Given the description of an element on the screen output the (x, y) to click on. 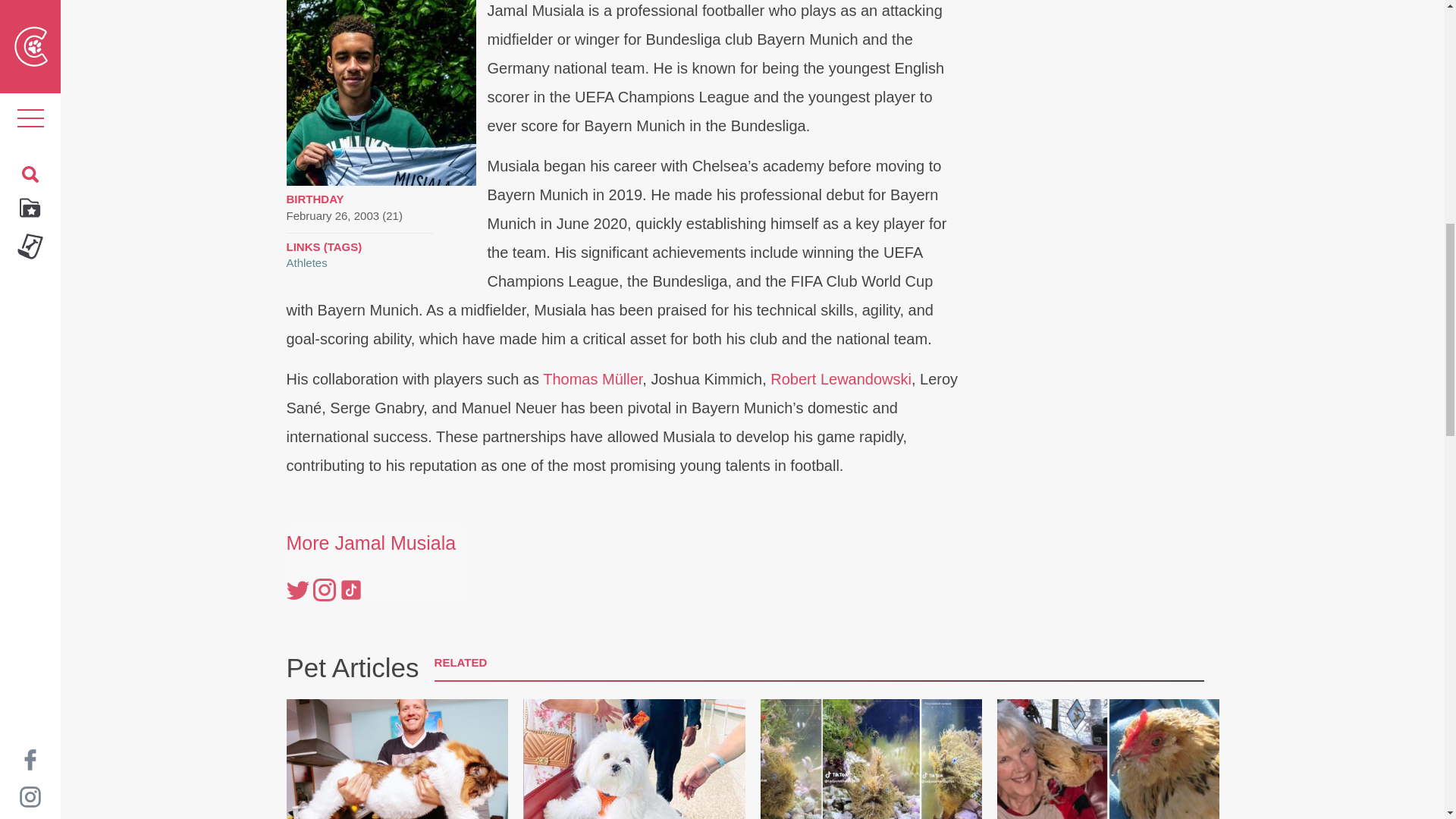
Jamal Musiala's Instagram (323, 589)
Jamal Musiala's Tiktok (350, 589)
Jamal Musiala's Twitter (297, 589)
